Given the description of an element on the screen output the (x, y) to click on. 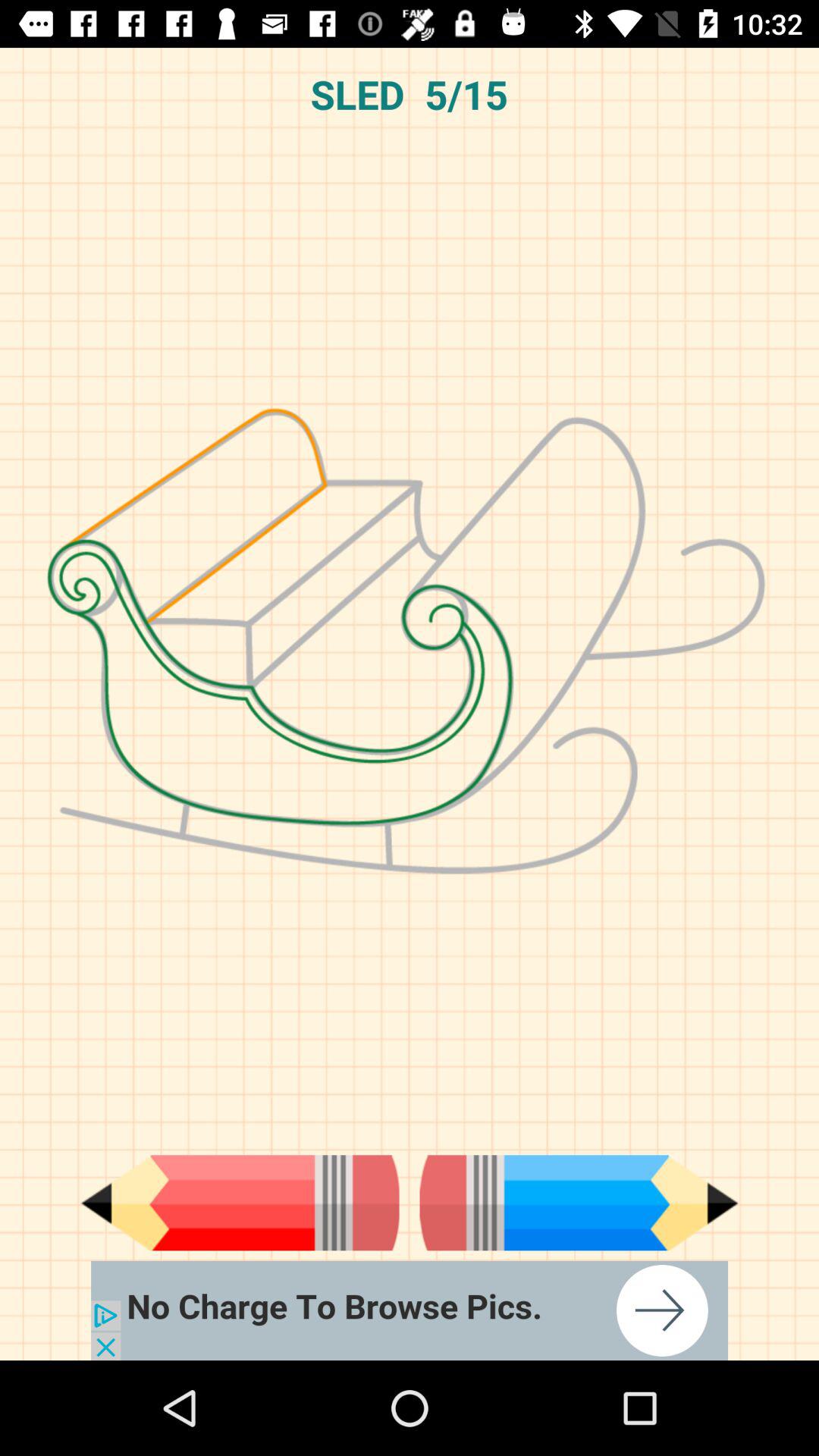
advertisement link (409, 1310)
